Given the description of an element on the screen output the (x, y) to click on. 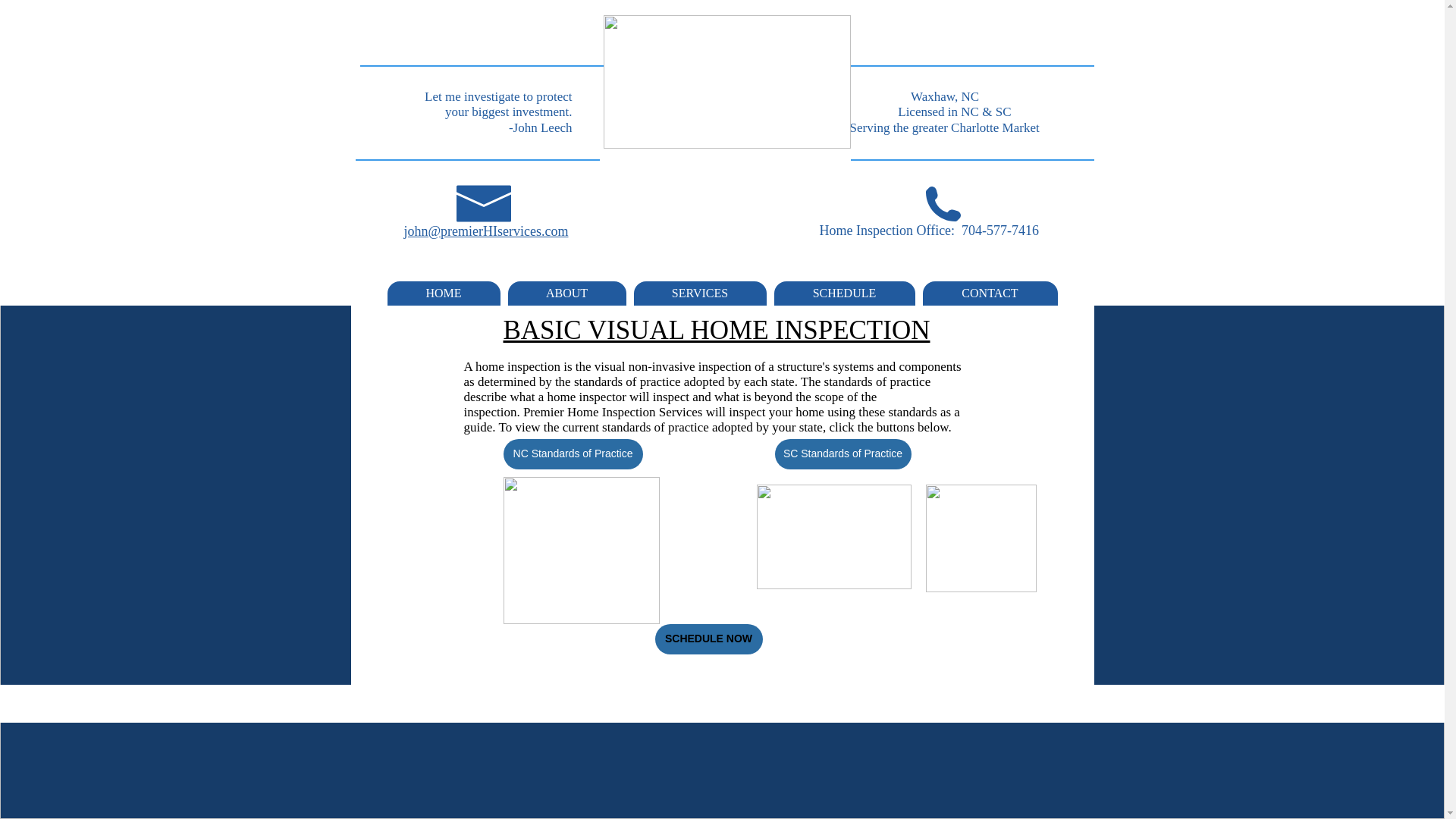
SC Standards of Practice (842, 453)
SCHEDULE NOW (708, 639)
SERVICES (700, 293)
SCHEDULE (843, 293)
HOME (443, 293)
ashi2.JPG (979, 538)
NC Standards of Practice (573, 453)
CONTACT (989, 293)
ABOUT (567, 293)
